Given the description of an element on the screen output the (x, y) to click on. 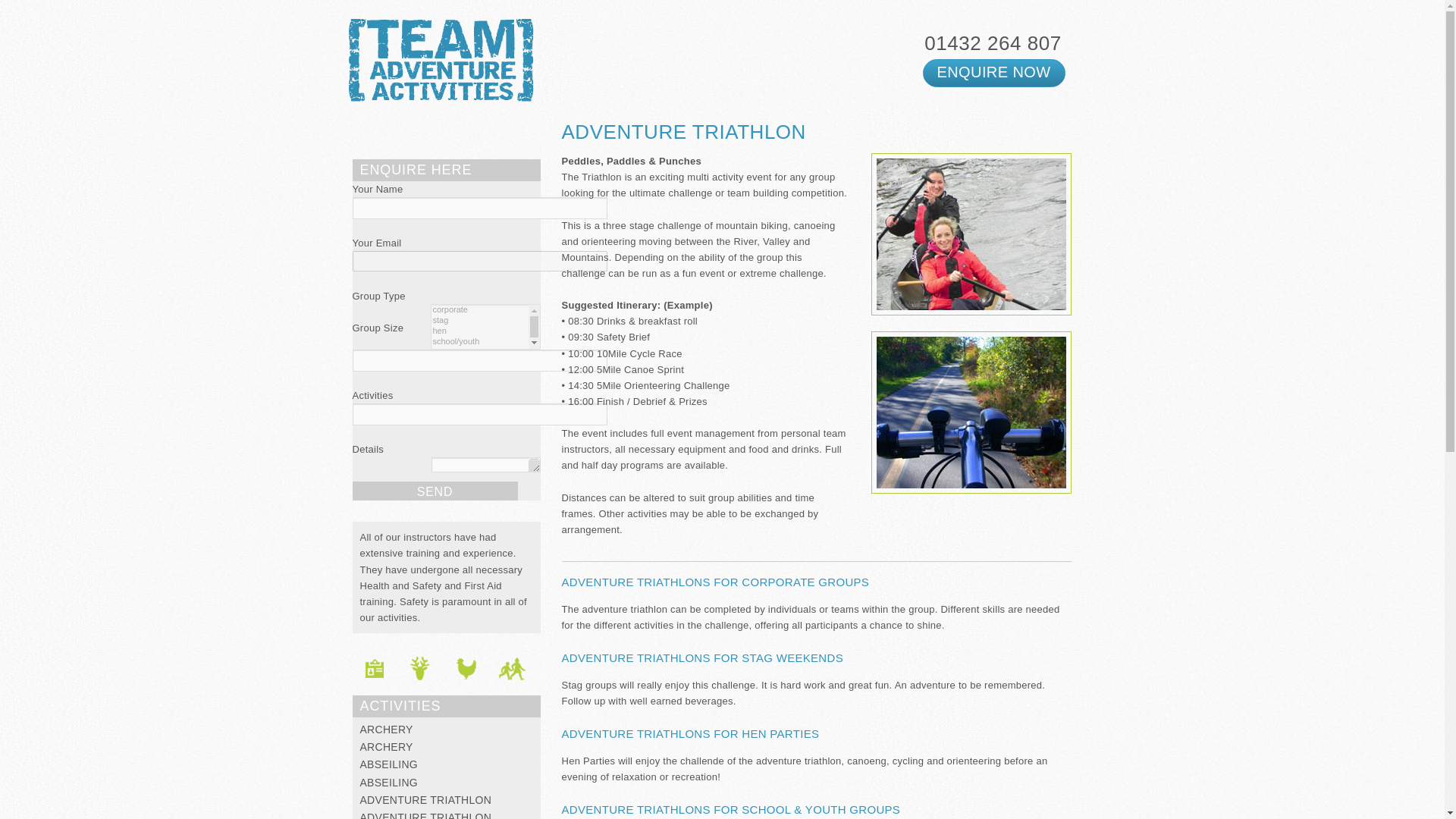
Send (434, 490)
ENQUIRE NOW (994, 71)
ADVENTURE TRIATHLON (425, 799)
ABSEILING (387, 764)
ARCHERY (385, 729)
ADVENTURE TRIATHLON (425, 815)
ABSEILING (387, 782)
triathlon2 (970, 412)
ARCHERY (385, 746)
triathlon1 (970, 234)
Send (434, 490)
